Given the description of an element on the screen output the (x, y) to click on. 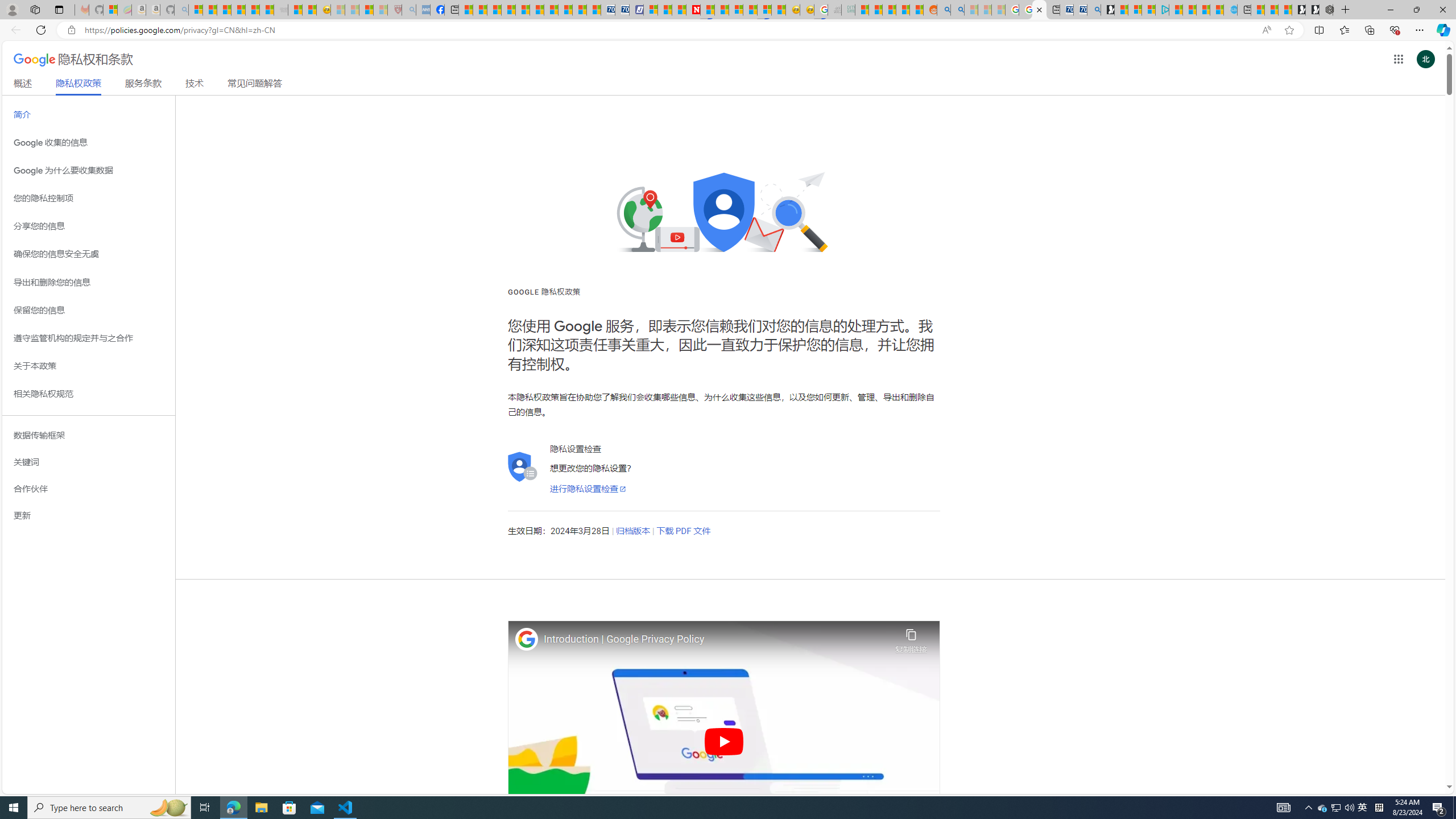
Climate Damage Becomes Too Severe To Reverse (507, 9)
